Given the description of an element on the screen output the (x, y) to click on. 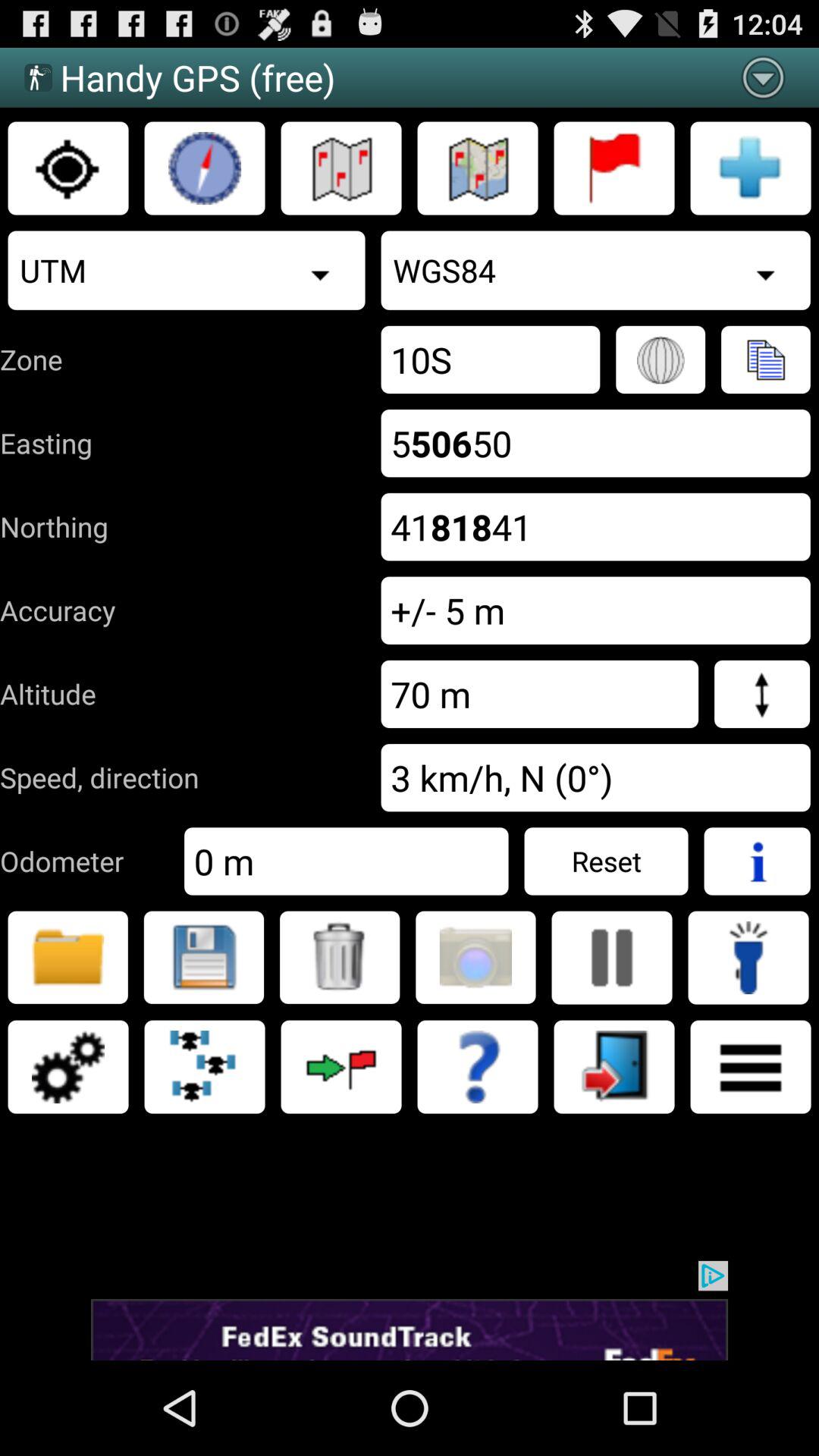
help icon symbol (477, 1066)
